Given the description of an element on the screen output the (x, y) to click on. 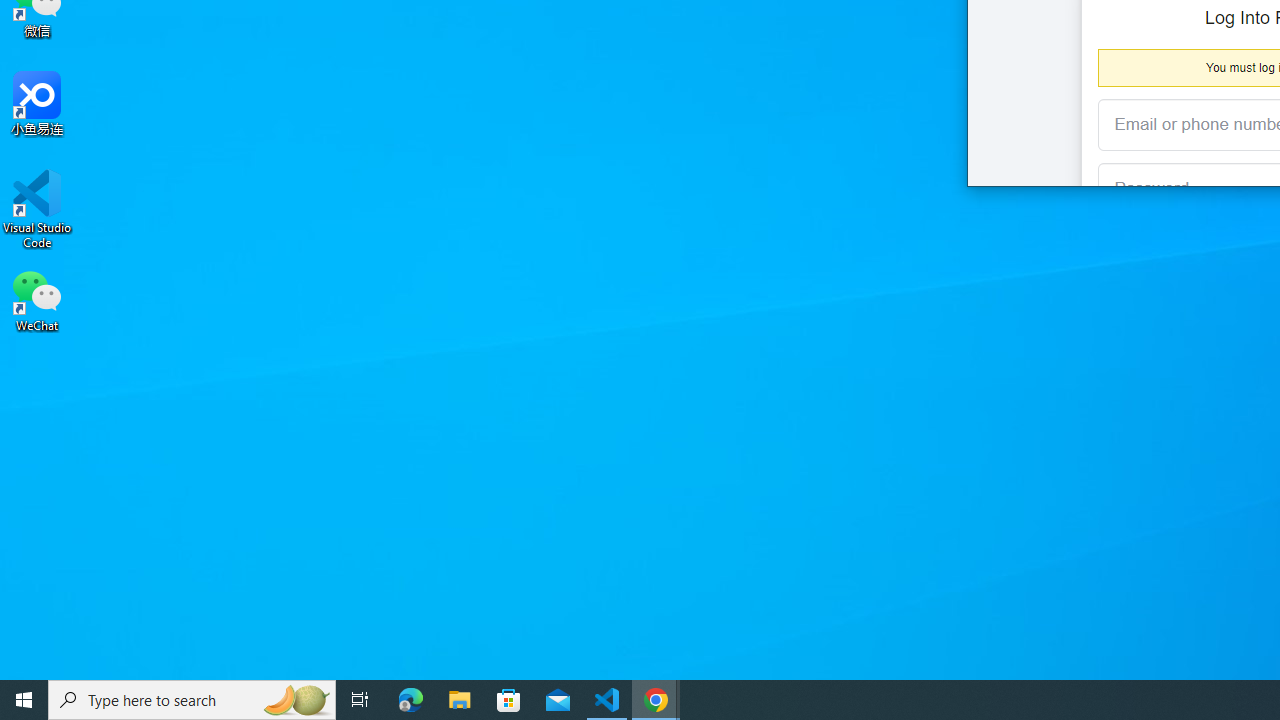
WeChat (37, 299)
Microsoft Store (509, 699)
Type here to search (191, 699)
Microsoft Edge (411, 699)
Visual Studio Code - 1 running window (607, 699)
Visual Studio Code (37, 209)
Search highlights icon opens search home window (295, 699)
Google Chrome - 2 running windows (656, 699)
Task View (359, 699)
Start (24, 699)
File Explorer (460, 699)
